Given the description of an element on the screen output the (x, y) to click on. 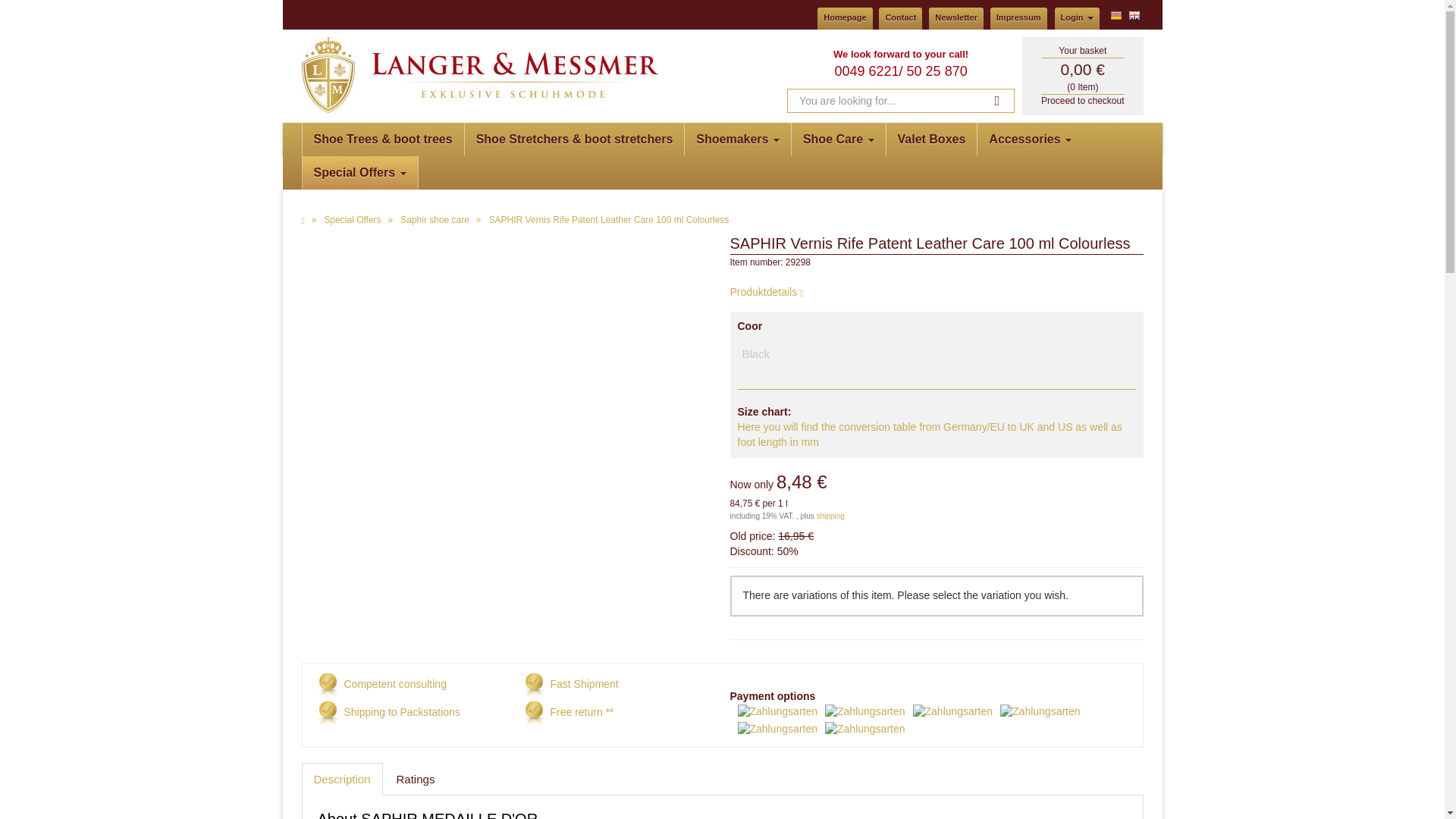
Valet Boxes (930, 139)
Shoemakers (737, 139)
Proceed to checkout (1082, 100)
Shoe Care (838, 139)
Impressum (1018, 17)
Your basket (1082, 50)
Your basket (1082, 75)
Homepage (845, 17)
Shoe Care (838, 139)
Accessories (1029, 139)
Valet Boxes (930, 139)
Contact (900, 17)
Special Offers (358, 172)
Newsletter (955, 17)
Accessories (1029, 139)
